Given the description of an element on the screen output the (x, y) to click on. 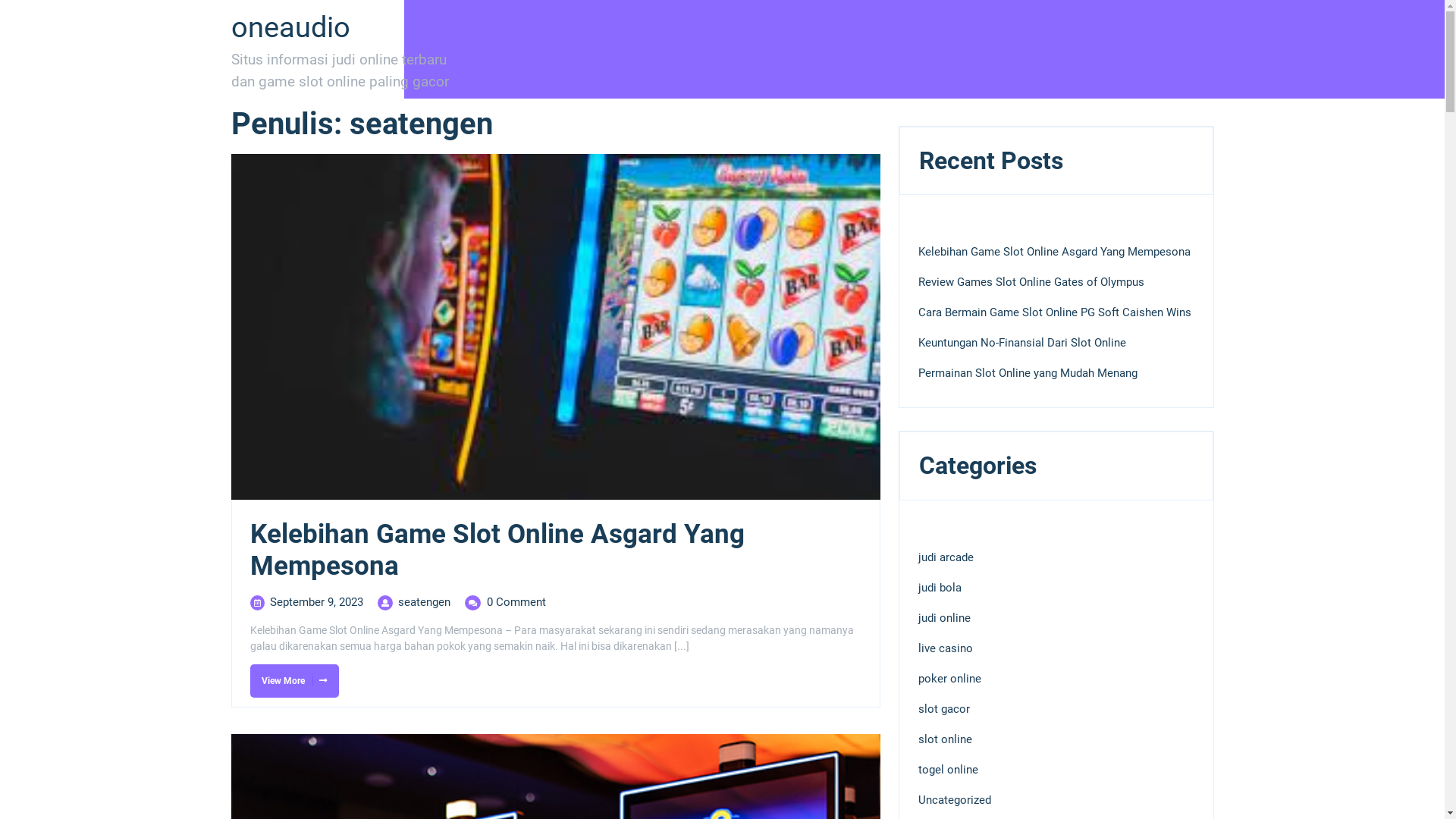
judi online Element type: text (943, 617)
Kelebihan Game Slot Online Asgard Yang Mempesona Element type: text (1053, 251)
slot gacor Element type: text (943, 708)
Keuntungan No-Finansial Dari Slot Online Element type: text (1021, 342)
September 9, 2023 Element type: text (316, 601)
seatengen Element type: text (423, 601)
judi bola Element type: text (938, 587)
judi arcade Element type: text (944, 557)
poker online Element type: text (948, 678)
Permainan Slot Online yang Mudah Menang Element type: text (1026, 372)
live casino Element type: text (944, 648)
Review Games Slot Online Gates of Olympus Element type: text (1030, 281)
slot online Element type: text (944, 739)
oneaudio Element type: text (289, 26)
Uncategorized Element type: text (953, 799)
Cara Bermain Game Slot Online PG Soft Caishen Wins Element type: text (1053, 312)
View More Element type: text (294, 680)
Kelebihan Game Slot Online Asgard Yang Mempesona Element type: text (497, 549)
togel online Element type: text (947, 769)
